Given the description of an element on the screen output the (x, y) to click on. 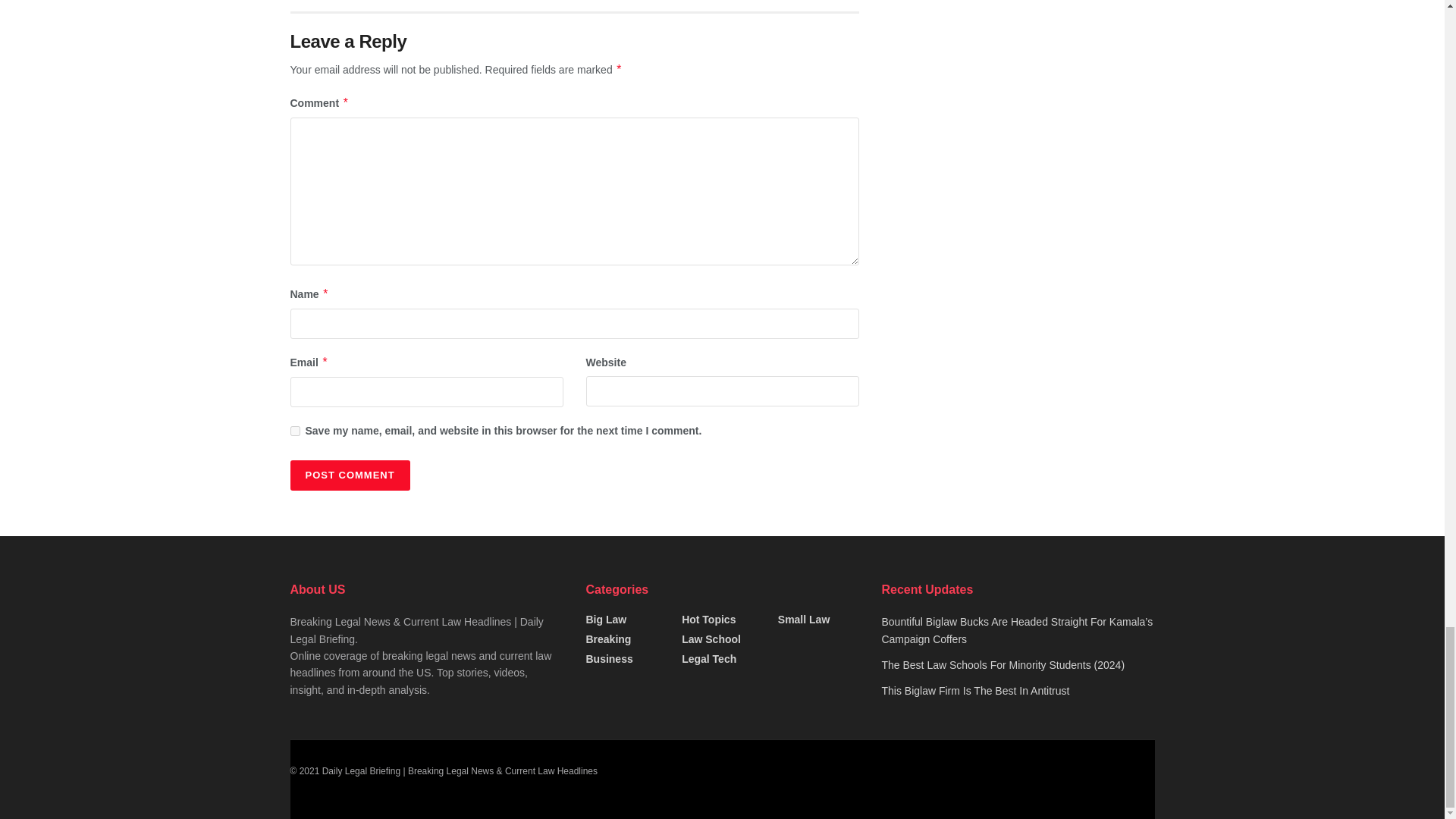
yes (294, 430)
Post Comment (349, 475)
